Given the description of an element on the screen output the (x, y) to click on. 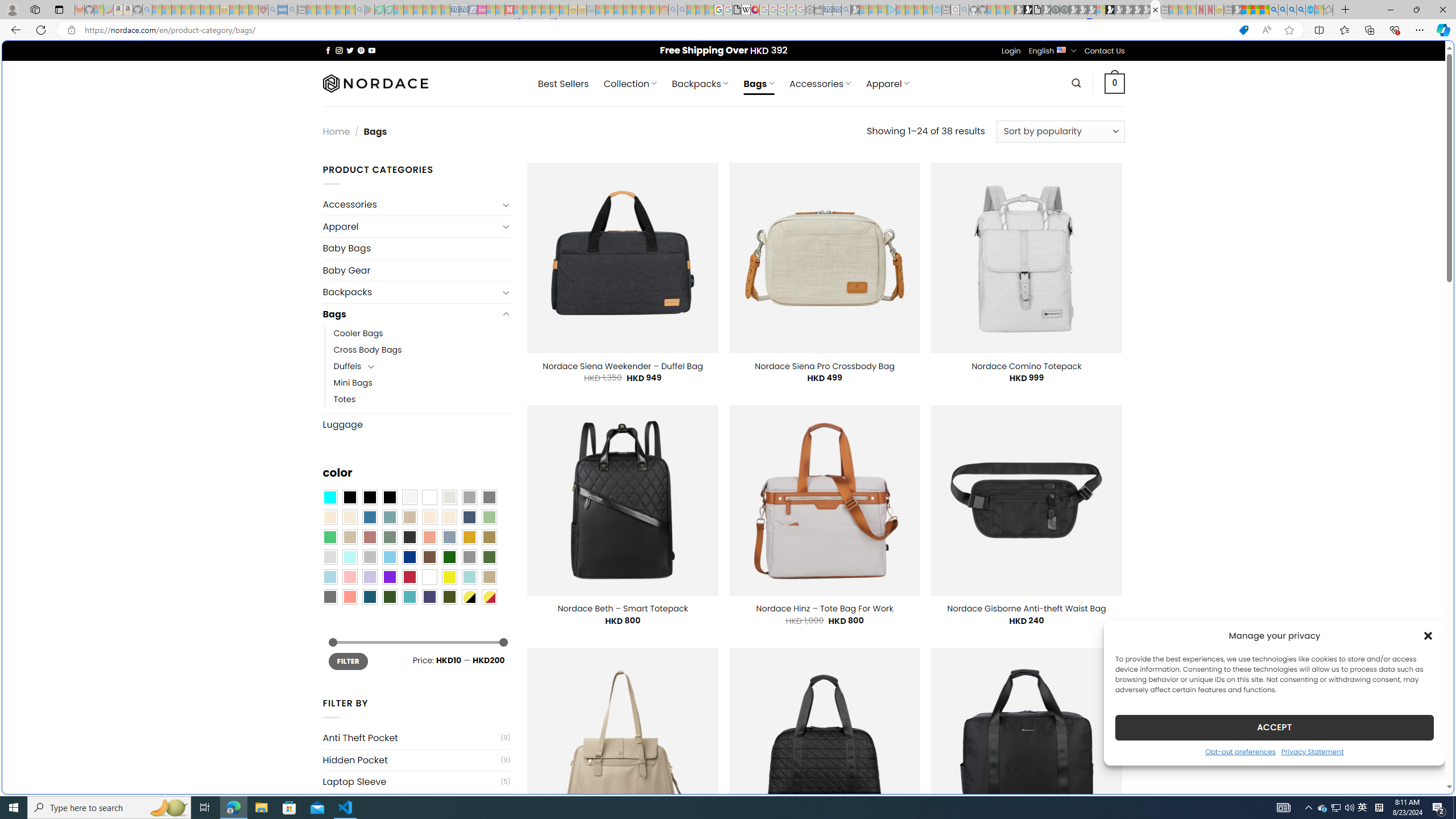
Hidden Pocket(9) (416, 759)
FILTER (347, 661)
Silver (369, 557)
Bing AI - Search (1272, 9)
Light Blue (329, 577)
